Given the description of an element on the screen output the (x, y) to click on. 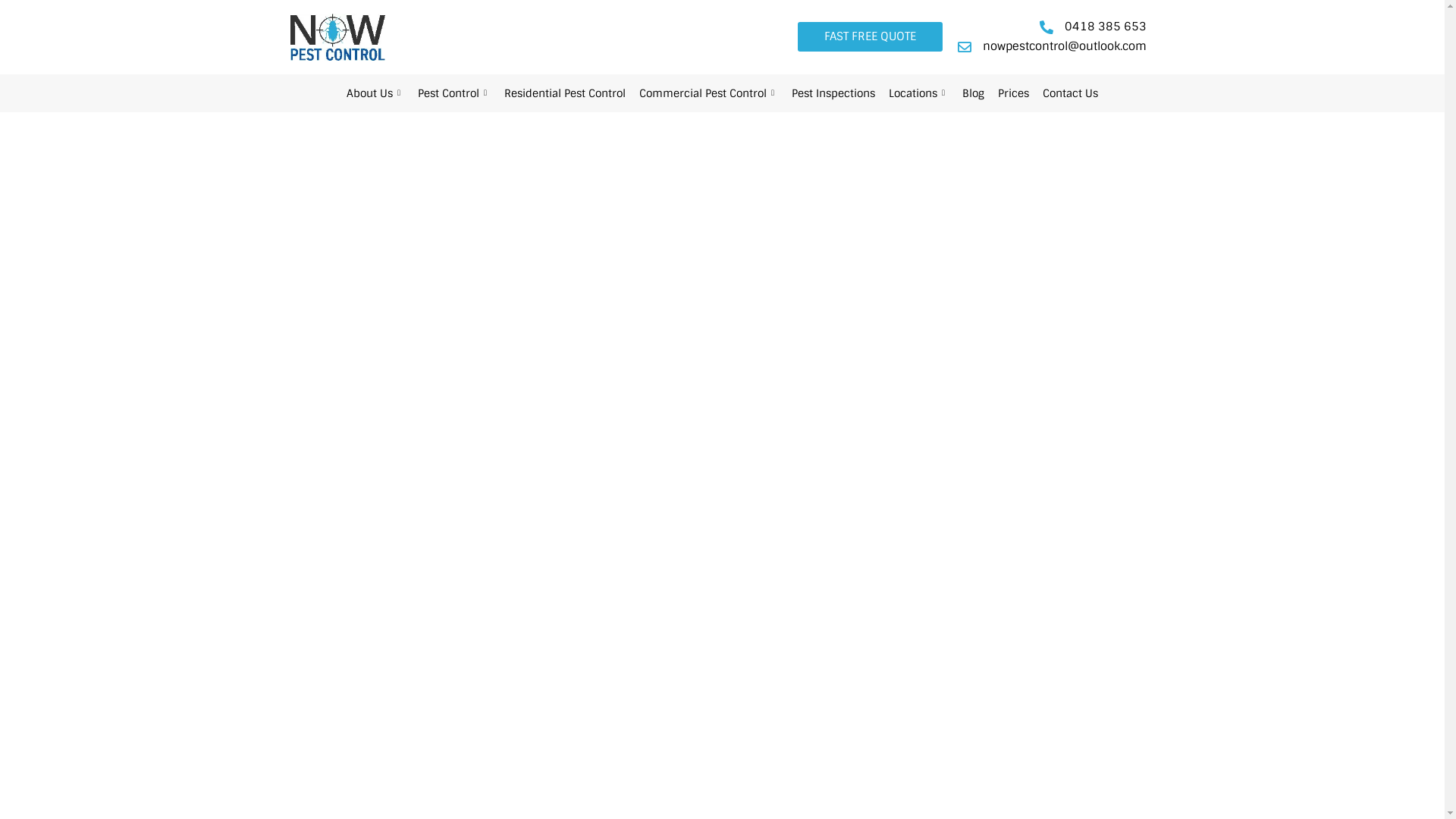
FAST FREE QUOTE Element type: text (869, 36)
Contact Us Element type: text (1069, 92)
nowpestcontrol@outlook.com Element type: text (1049, 46)
0418 385 653 Element type: text (1090, 27)
Residential Pest Control Element type: text (564, 92)
Pest Inspections Element type: text (832, 92)
Prices Element type: text (1013, 92)
Locations Element type: text (918, 92)
Commercial Pest Control Element type: text (708, 92)
Blog Element type: text (973, 92)
Pest Control Element type: text (454, 92)
About Us Element type: text (375, 92)
